Given the description of an element on the screen output the (x, y) to click on. 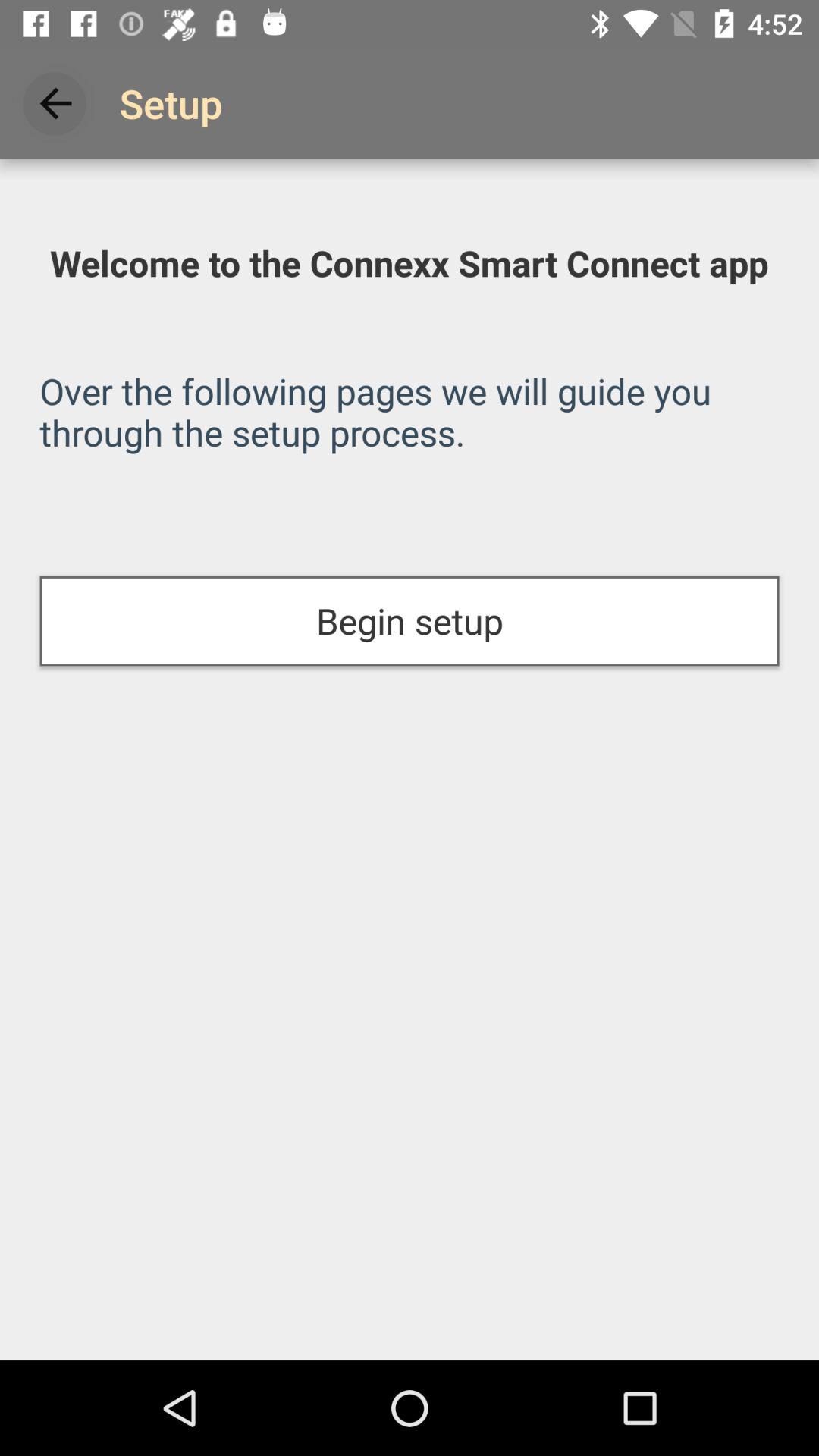
launch the icon at the center (409, 621)
